Given the description of an element on the screen output the (x, y) to click on. 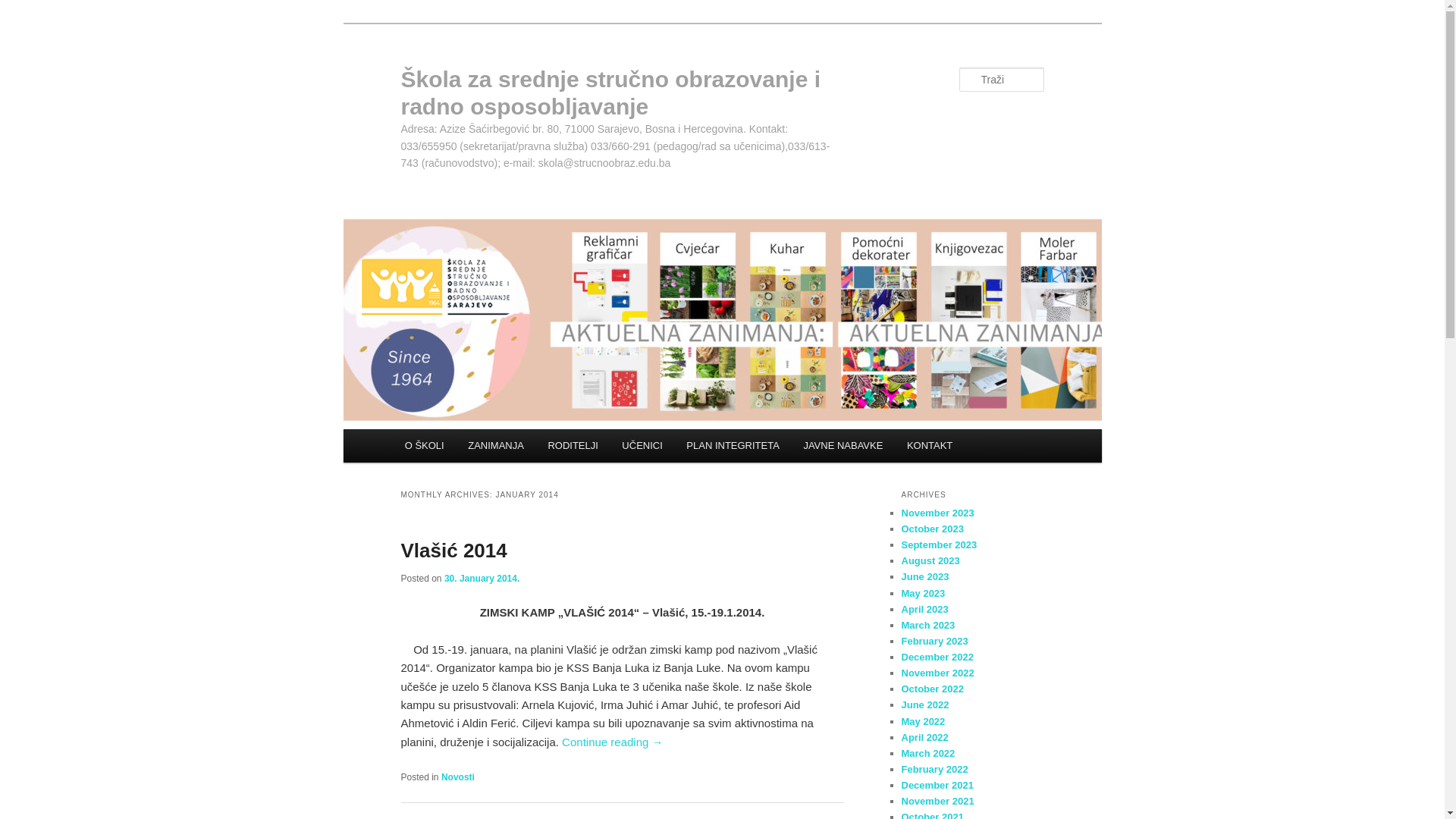
May 2023 Element type: text (922, 593)
April 2023 Element type: text (923, 609)
June 2023 Element type: text (924, 576)
October 2022 Element type: text (931, 688)
30. January 2014. Element type: text (481, 578)
October 2023 Element type: text (931, 528)
June 2022 Element type: text (924, 704)
November 2022 Element type: text (936, 672)
ZANIMANJA Element type: text (495, 445)
Skip to primary content Element type: text (22, 22)
KONTAKT Element type: text (929, 445)
April 2022 Element type: text (923, 737)
May 2022 Element type: text (922, 721)
November 2021 Element type: text (936, 800)
November 2023 Element type: text (936, 512)
JAVNE NABAVKE Element type: text (843, 445)
December 2021 Element type: text (936, 784)
December 2022 Element type: text (936, 656)
February 2022 Element type: text (933, 769)
September 2023 Element type: text (938, 544)
August 2023 Element type: text (929, 560)
February 2023 Element type: text (933, 640)
March 2023 Element type: text (927, 624)
Novosti Element type: text (457, 776)
RODITELJI Element type: text (573, 445)
PLAN INTEGRITETA Element type: text (732, 445)
March 2022 Element type: text (927, 753)
